Given the description of an element on the screen output the (x, y) to click on. 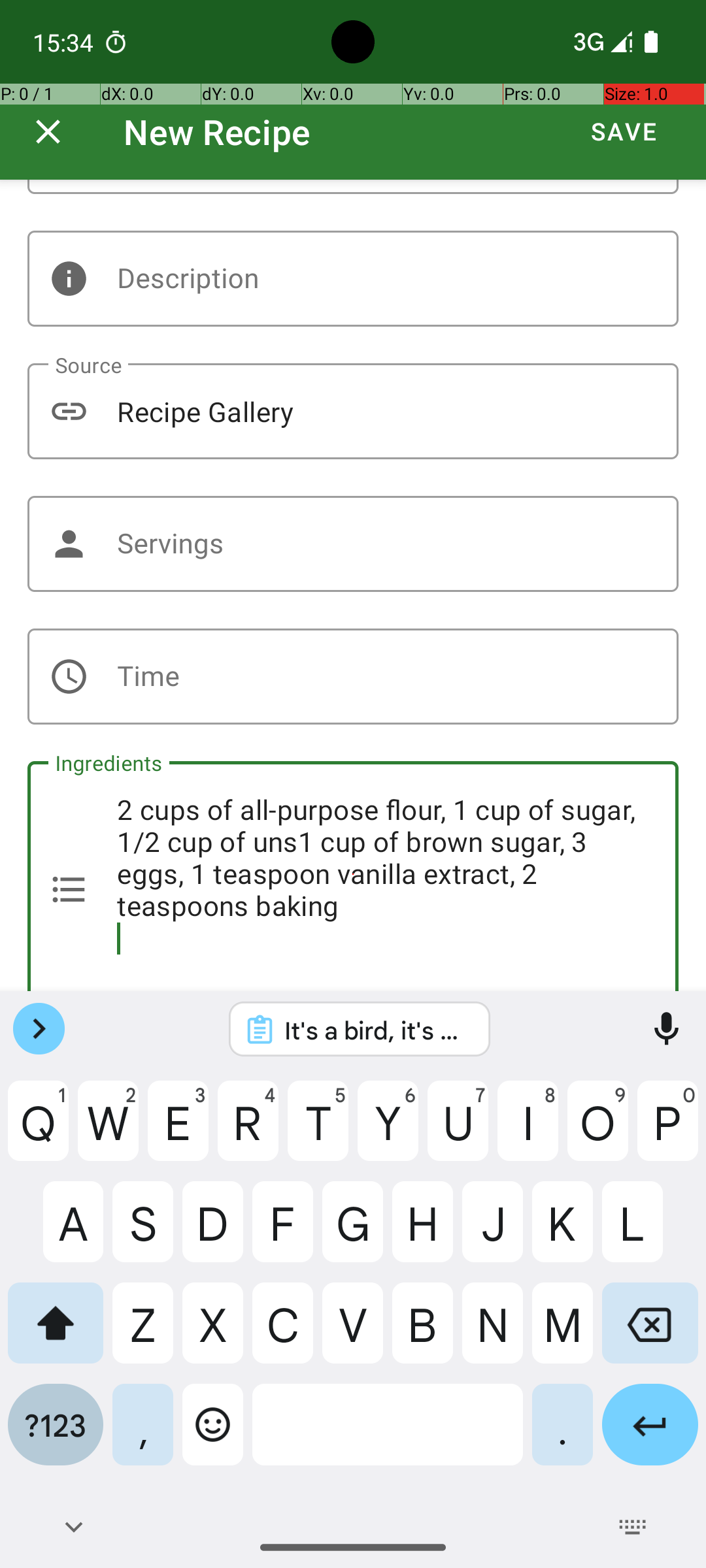
Recipe Gallery Element type: android.widget.EditText (352, 411)
2 cups of all-purpose flour, 1 cup of sugar, 1/2 cup of uns1 cup of brown sugar, 3 eggs, 1 teaspoon vanilla extract, 2 teaspoons baking

 Element type: android.widget.EditText (352, 876)
